Given the description of an element on the screen output the (x, y) to click on. 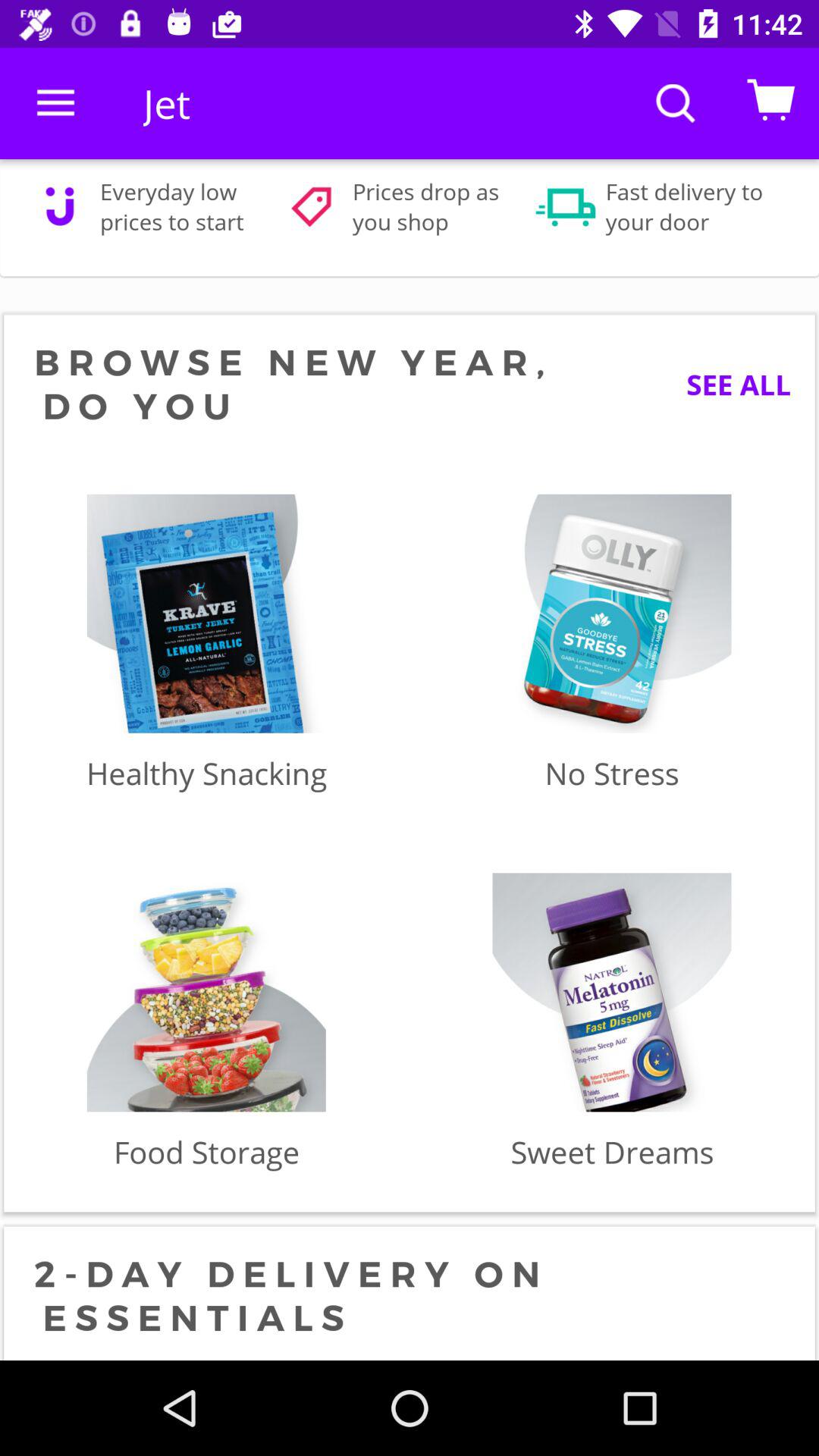
select the see all icon (727, 384)
